Given the description of an element on the screen output the (x, y) to click on. 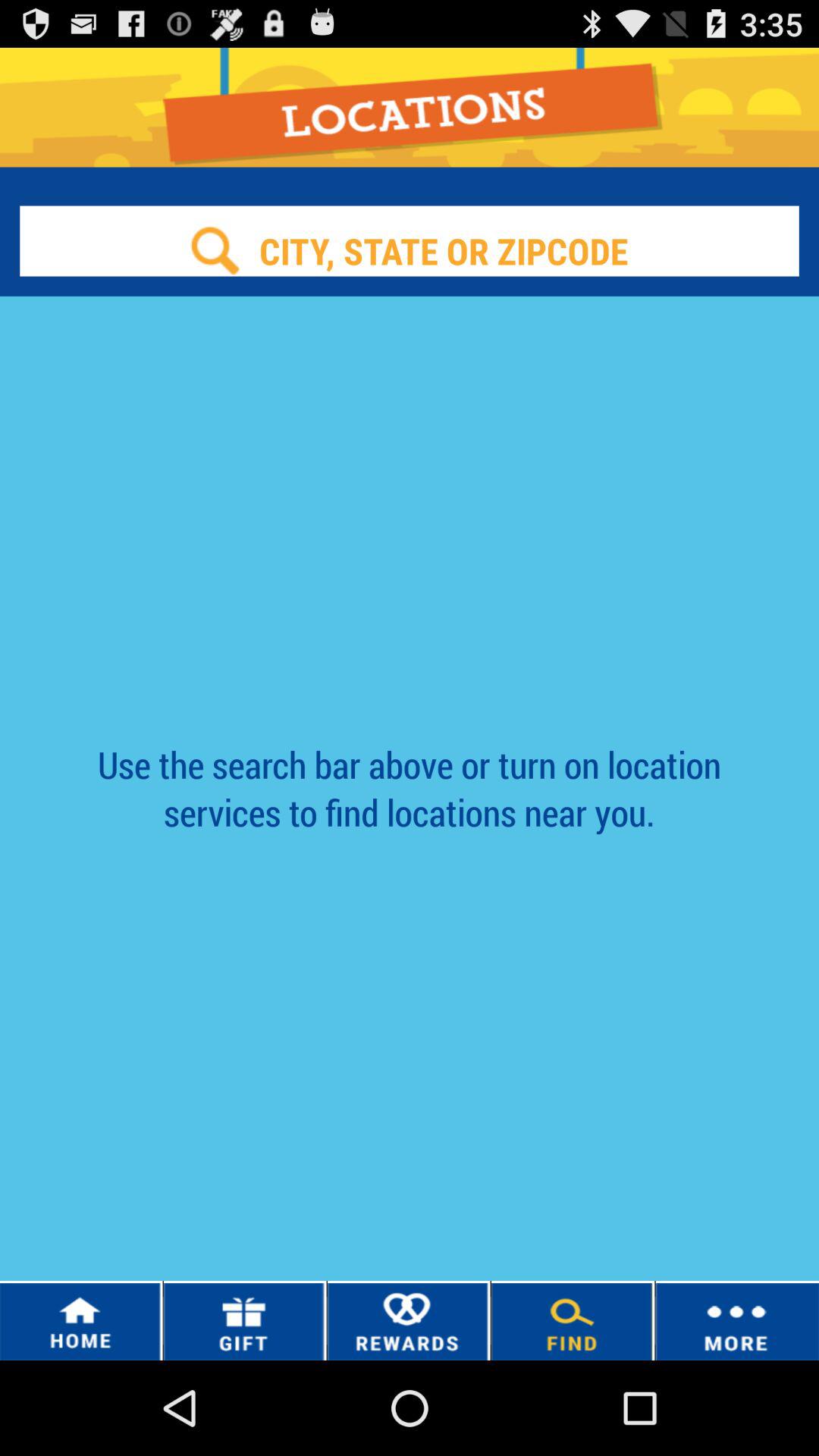
enter city name (408, 250)
